Given the description of an element on the screen output the (x, y) to click on. 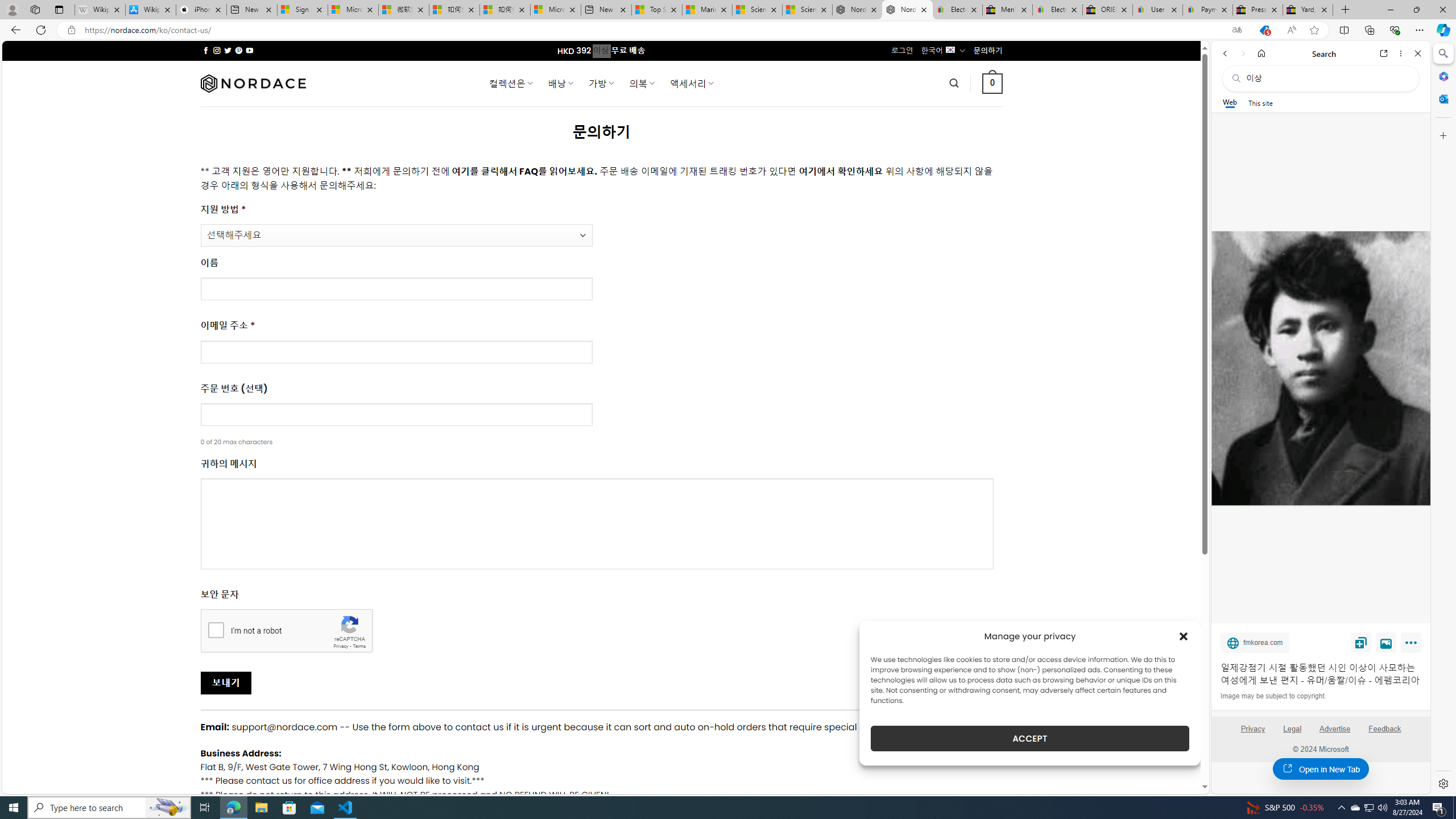
Payments Terms of Use | eBay.com (1207, 9)
This site has coupons! Shopping in Microsoft Edge, 5 (1263, 29)
Web scope (1230, 102)
Forward (1242, 53)
Microsoft Services Agreement (352, 9)
